Given the description of an element on the screen output the (x, y) to click on. 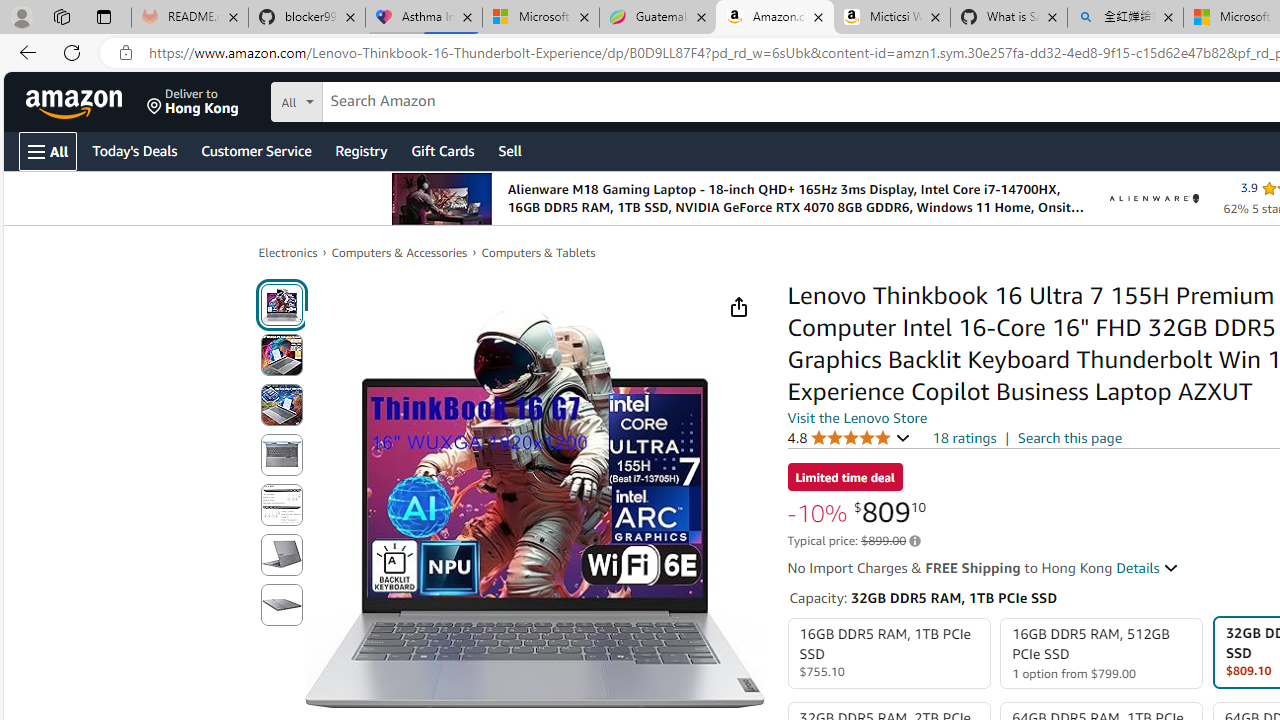
Learn more about Amazon pricing and savings (914, 541)
Customer Service (256, 150)
Deliver to Hong Kong (193, 101)
Open Menu (48, 151)
Share (738, 307)
Computers & Accessories (399, 252)
18 ratings (964, 438)
4.8 4.8 out of 5 stars (849, 437)
